Given the description of an element on the screen output the (x, y) to click on. 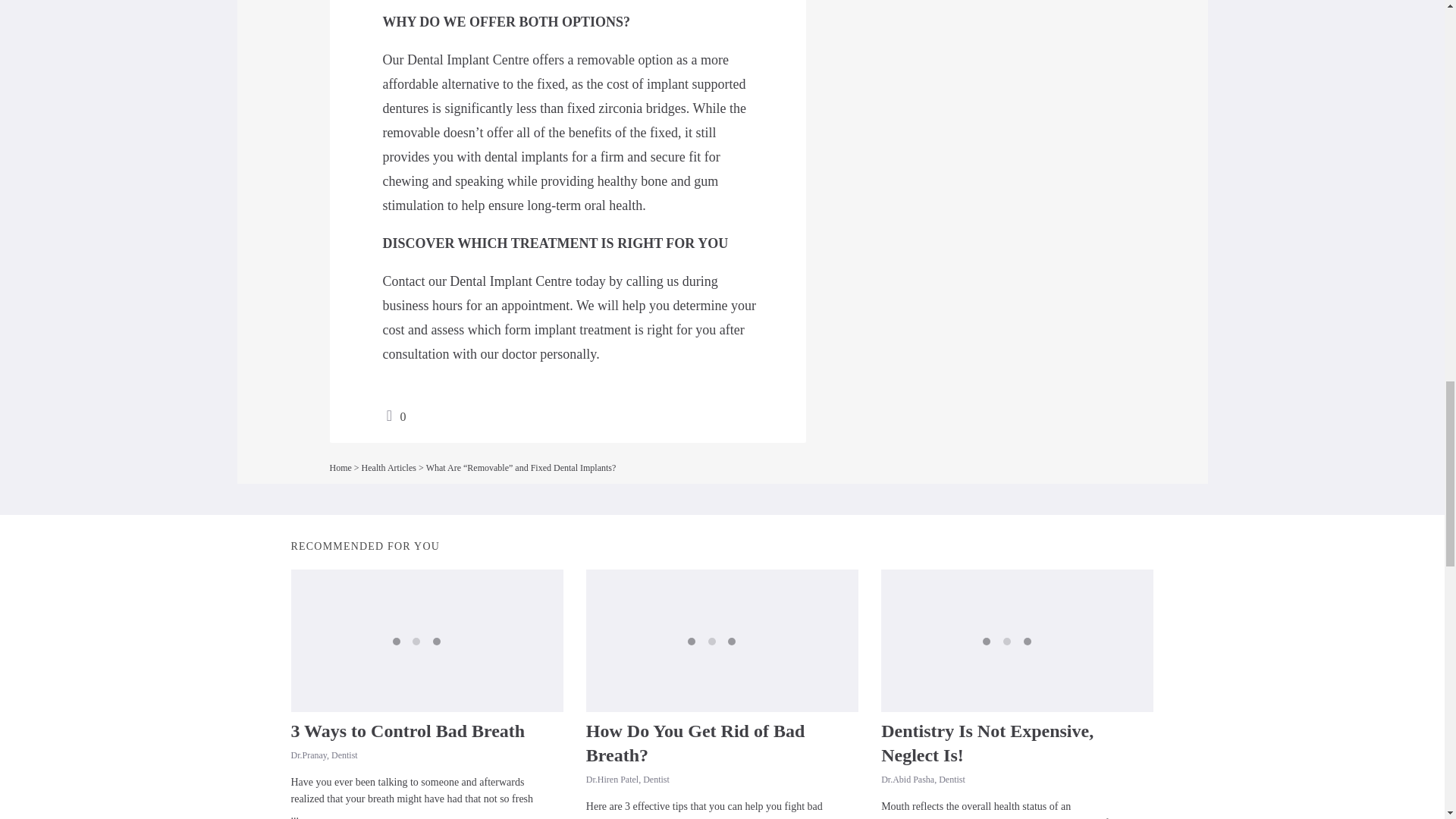
3 Ways to Control Bad Breath (408, 731)
How Do You Get Rid of Bad Breath? (695, 742)
Home (339, 467)
Health Articles (388, 467)
